Given the description of an element on the screen output the (x, y) to click on. 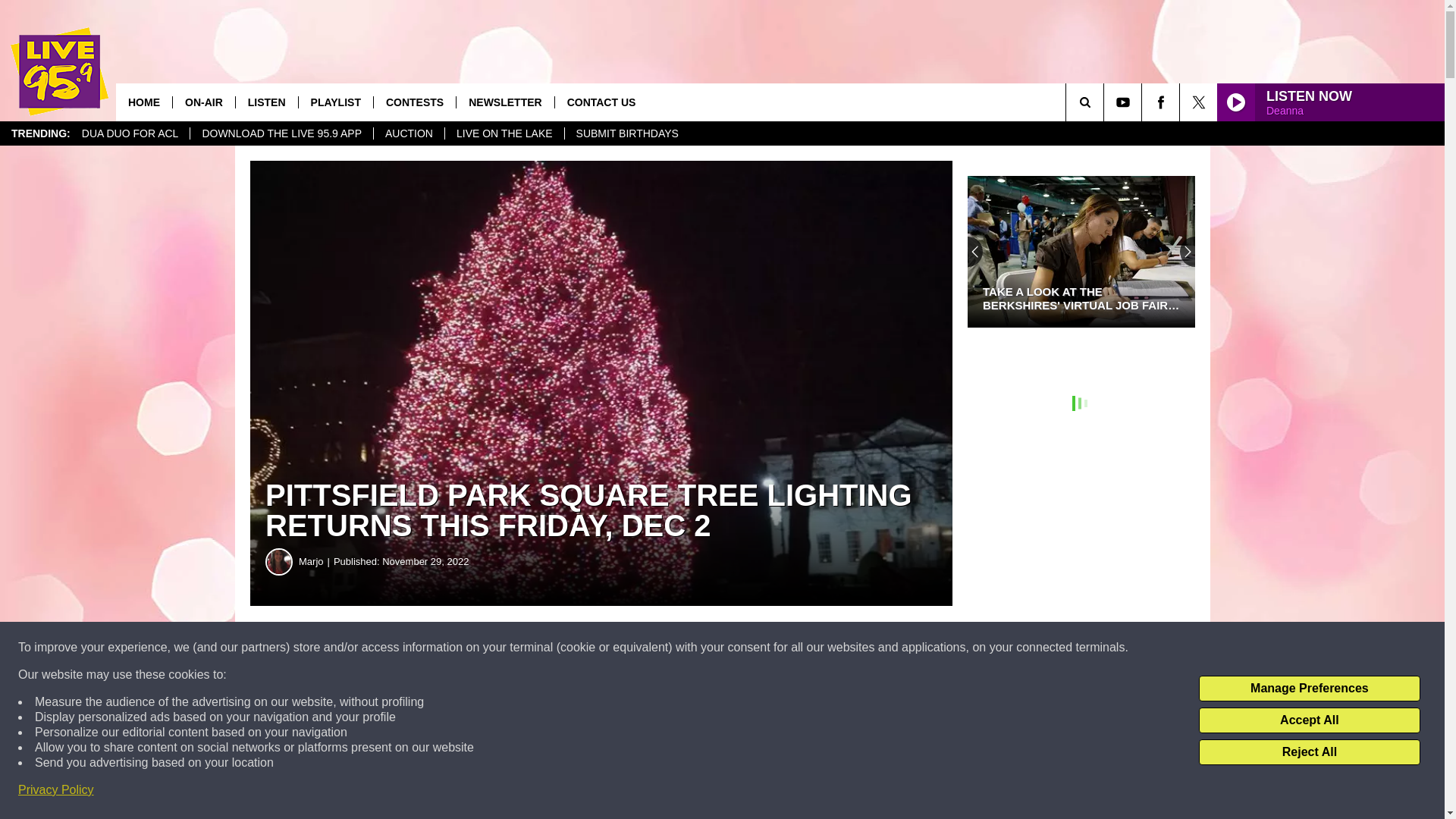
CONTESTS (413, 102)
SEARCH (1106, 102)
DUA DUO FOR ACL (129, 133)
Privacy Policy (55, 789)
Reject All (1309, 751)
HOME (143, 102)
CONTACT US (600, 102)
Share on Facebook (460, 647)
AUCTION (408, 133)
Share on Twitter (741, 647)
ON-AIR (202, 102)
NEWSLETTER (504, 102)
LIVE ON THE LAKE (504, 133)
SEARCH (1106, 102)
PLAYLIST (335, 102)
